Given the description of an element on the screen output the (x, y) to click on. 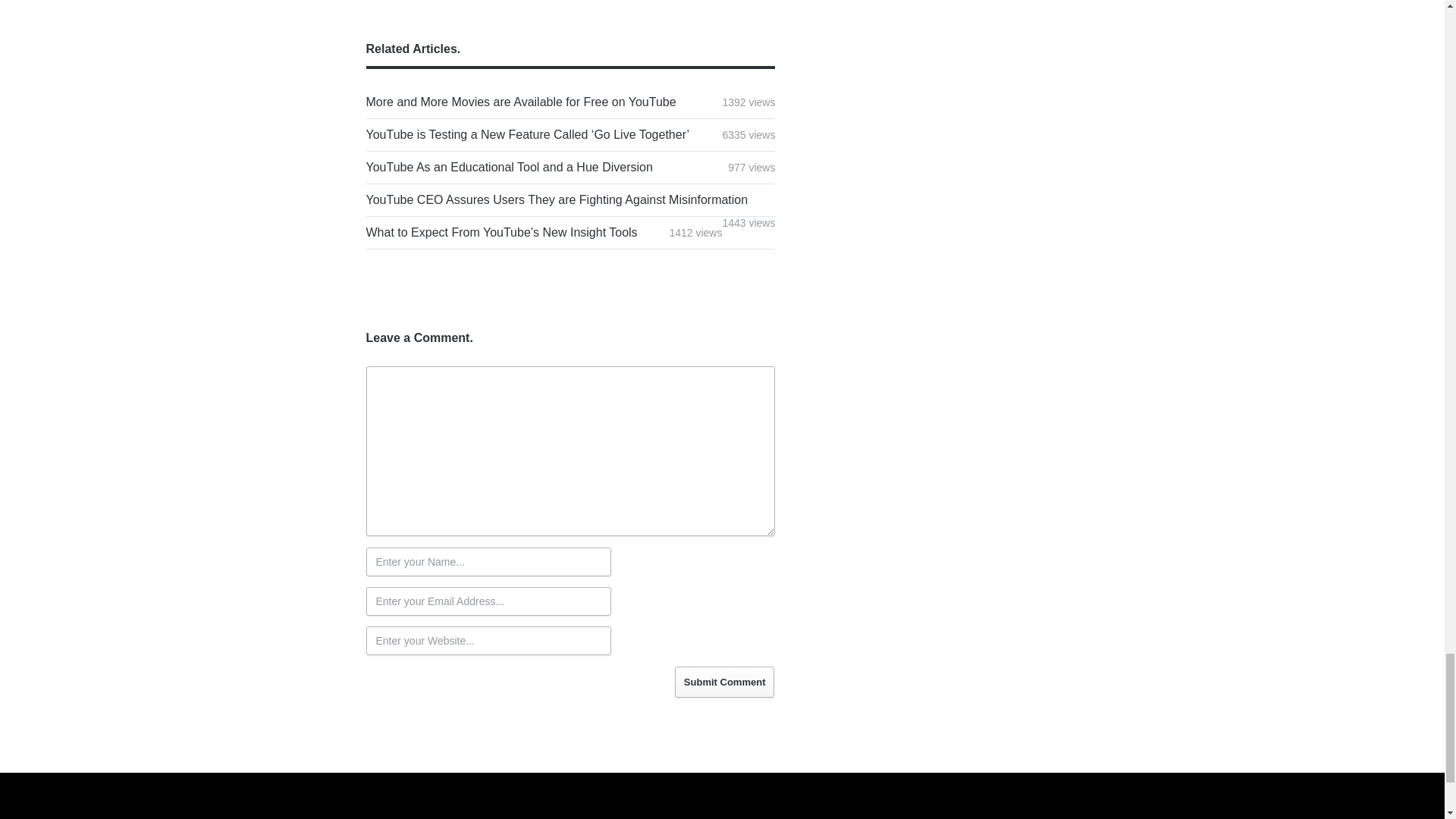
Submit Comment (724, 681)
